Given the description of an element on the screen output the (x, y) to click on. 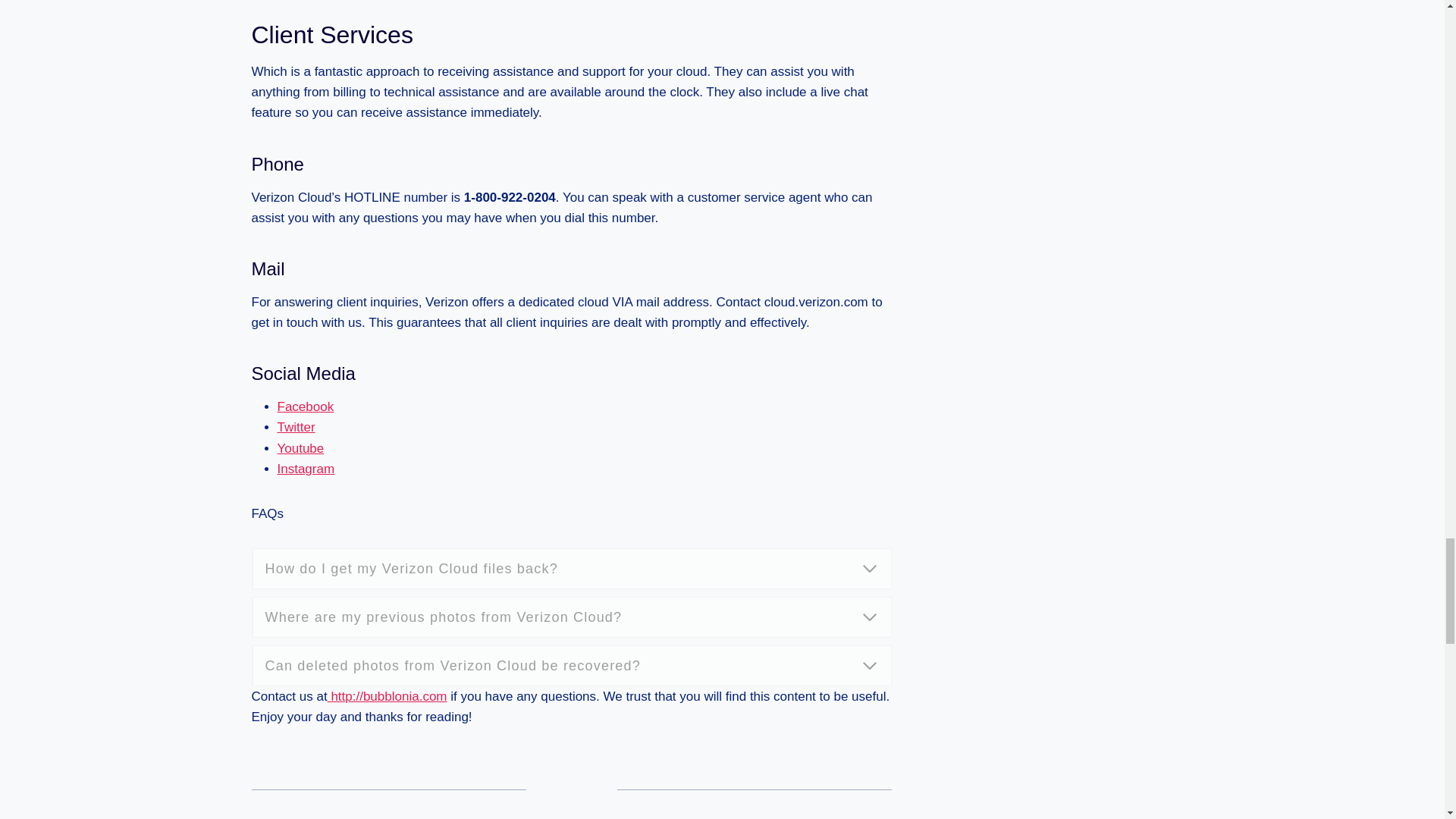
Twitter (296, 427)
Facebook (306, 406)
Youtube (301, 448)
Instagram (306, 468)
Where are my previous photos from Verizon Cloud? (571, 617)
How do I get my Verizon Cloud files back? (571, 567)
Can deleted photos from Verizon Cloud be recovered? (571, 665)
